Given the description of an element on the screen output the (x, y) to click on. 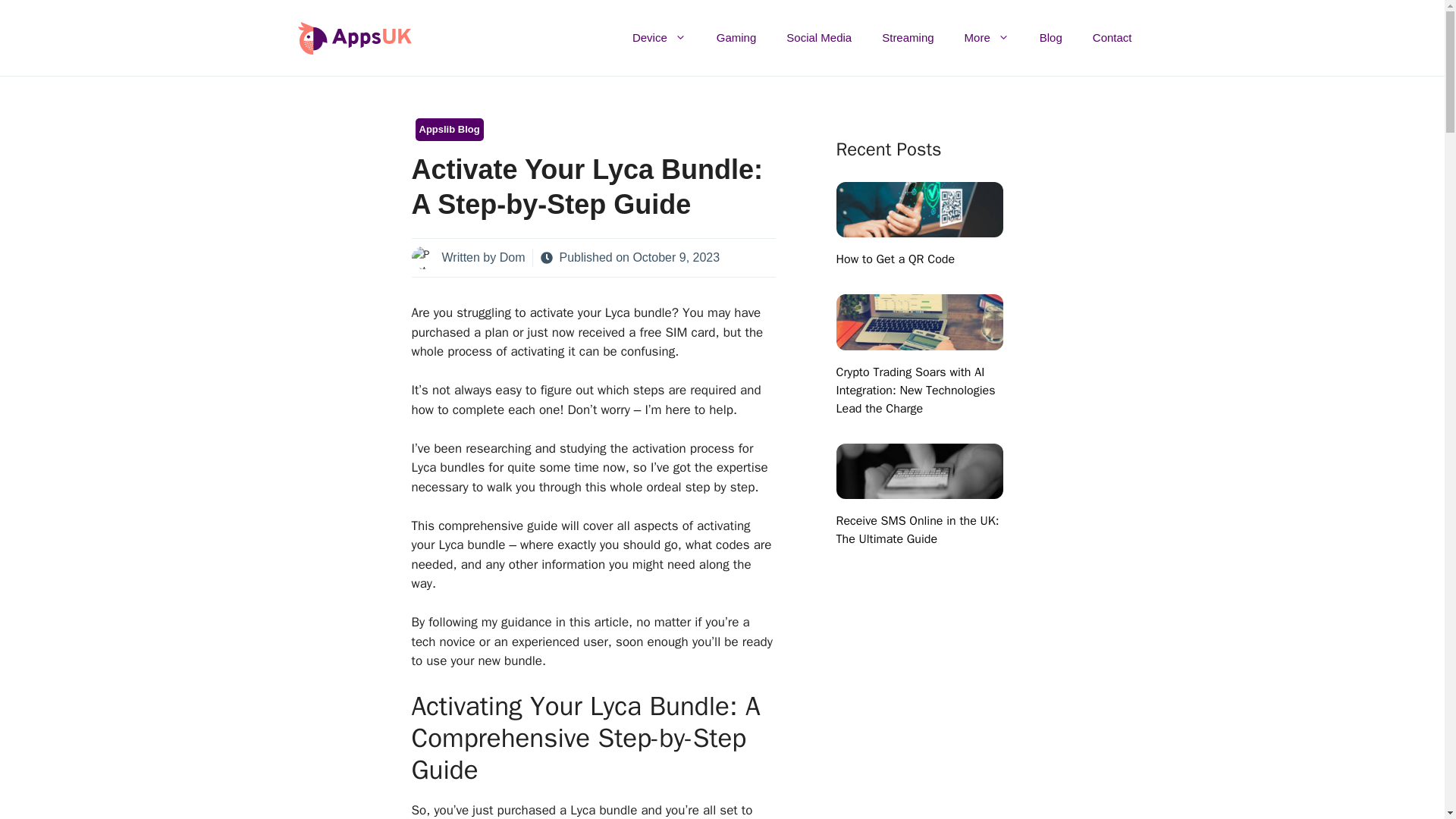
Streaming (907, 37)
More (987, 37)
Receive SMS Online in the UK: The Ultimate Guide (919, 489)
Contact (1112, 37)
Appslib Blog (448, 128)
Gaming (736, 37)
Dom (512, 256)
Device (659, 37)
Blog (1051, 37)
How to Get a QR Code (895, 258)
